Given the description of an element on the screen output the (x, y) to click on. 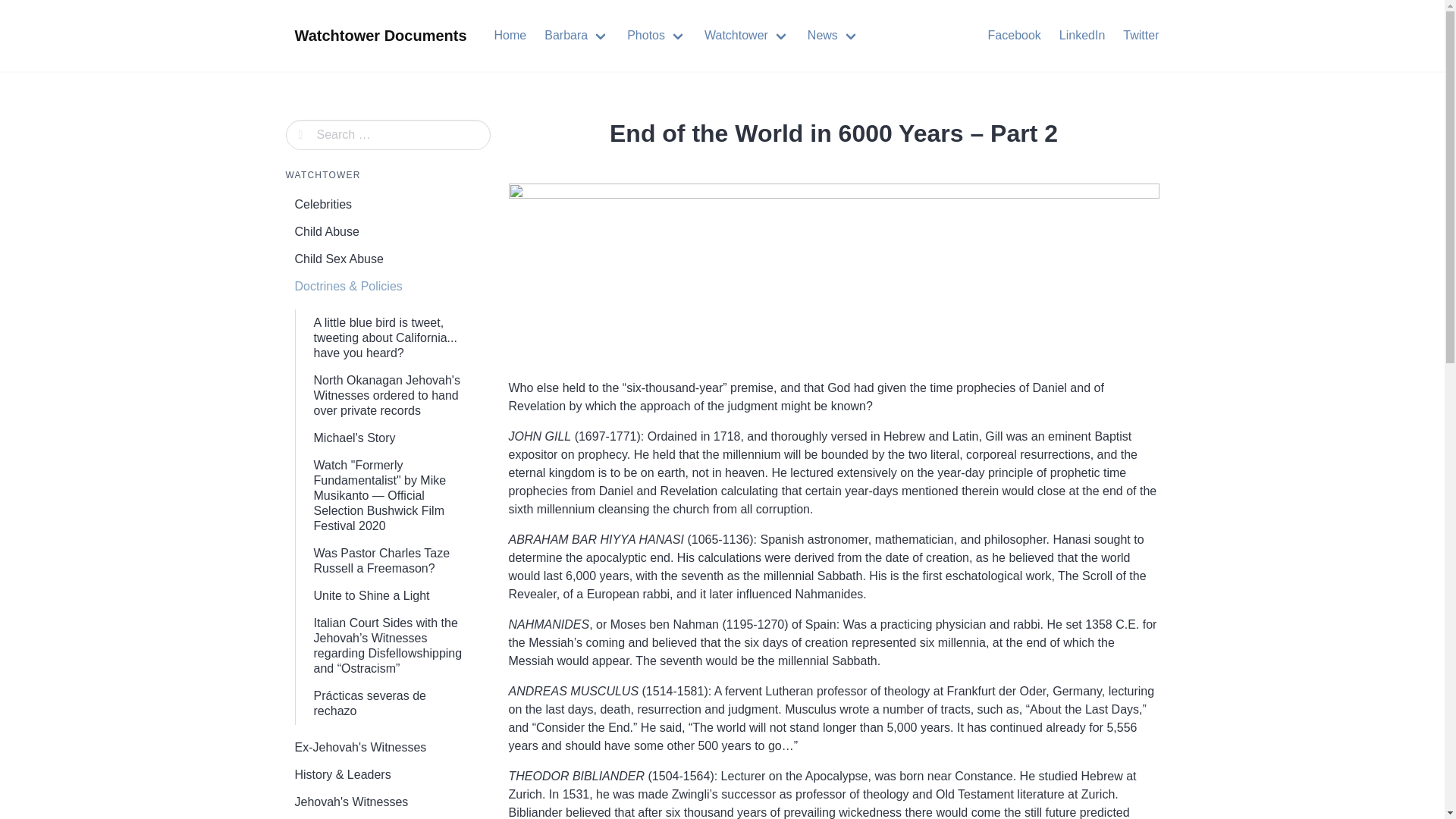
Child Sex Abuse (387, 258)
Child Abuse (387, 231)
Watchtower (746, 35)
News (832, 35)
Facebook (1013, 35)
Home (509, 35)
Watchtower Documents (380, 35)
Photos (656, 35)
Home (509, 35)
Barbara (576, 35)
Michael's Story (392, 438)
Watchtower Documents (380, 35)
Twitter (1140, 35)
